Given the description of an element on the screen output the (x, y) to click on. 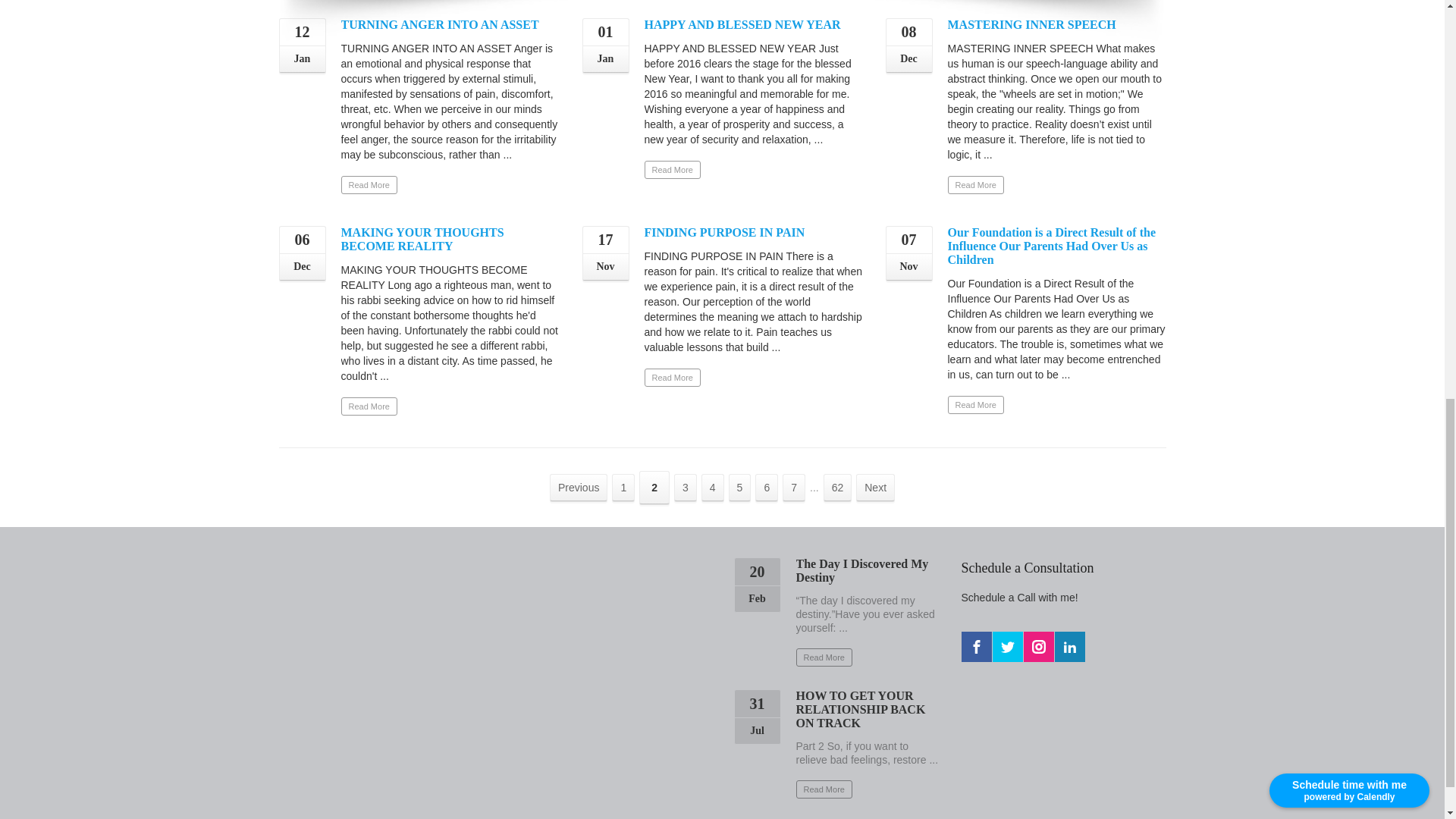
Facebook (975, 646)
Read More (975, 404)
HAPPY AND BLESSED NEW YEAR (743, 24)
Read More (975, 185)
Previous (578, 487)
Linkedin (1069, 646)
MASTERING INNER SPEECH (1031, 24)
Read More (672, 169)
TURNING ANGER INTO AN ASSET (439, 24)
Read More (672, 377)
